Given the description of an element on the screen output the (x, y) to click on. 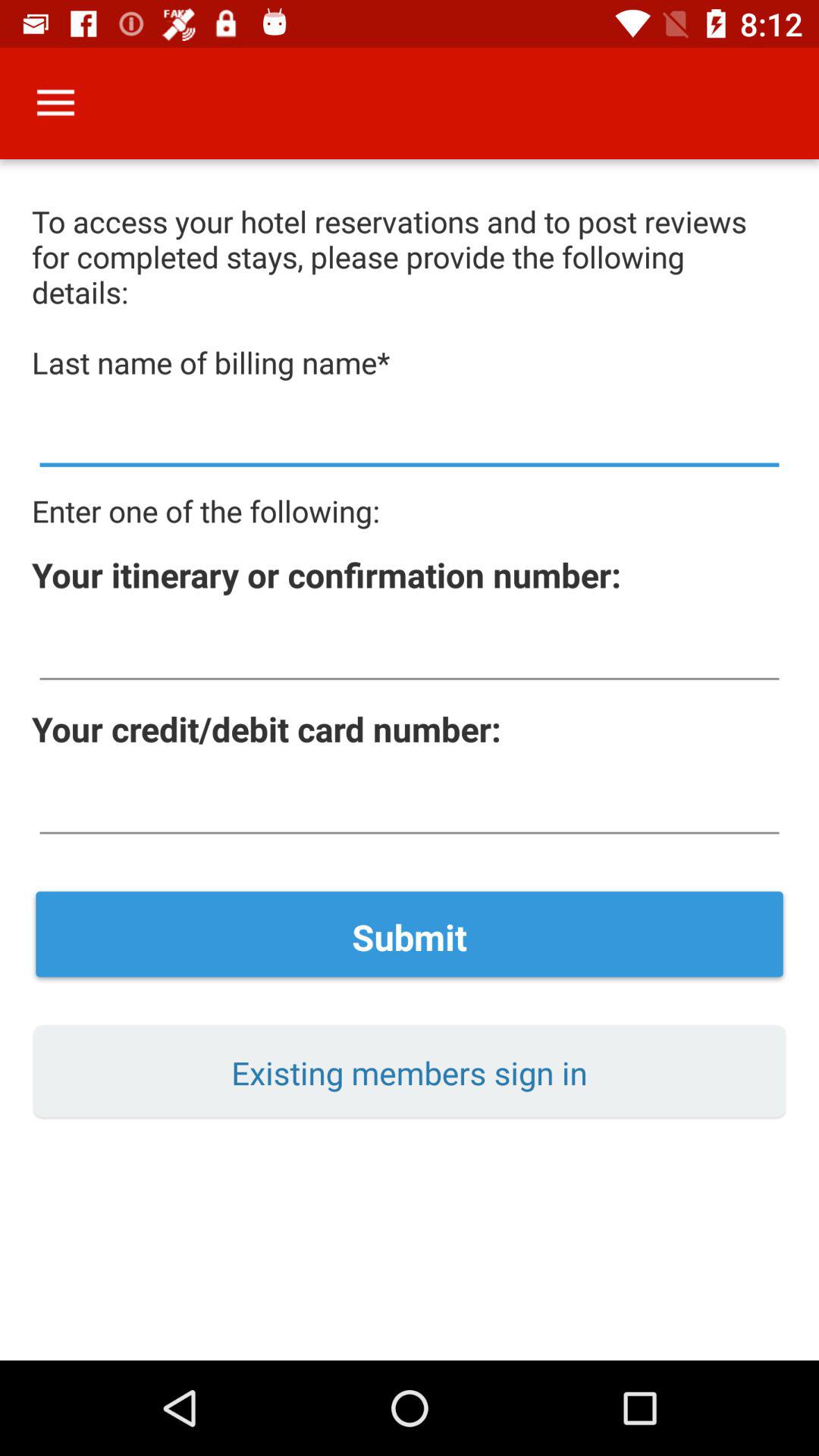
text box for credit card number (409, 805)
